Given the description of an element on the screen output the (x, y) to click on. 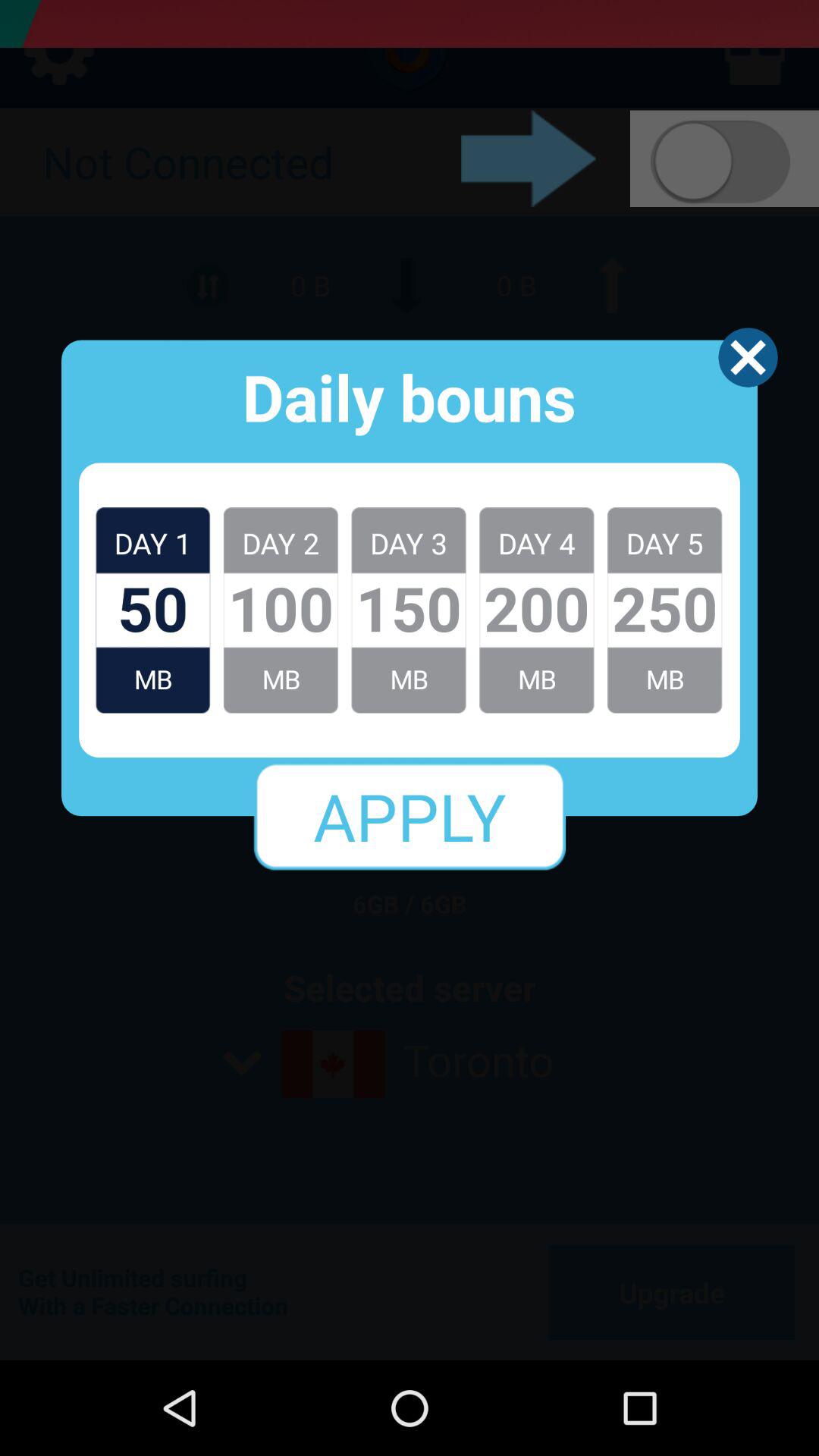
flip until apply app (409, 815)
